Given the description of an element on the screen output the (x, y) to click on. 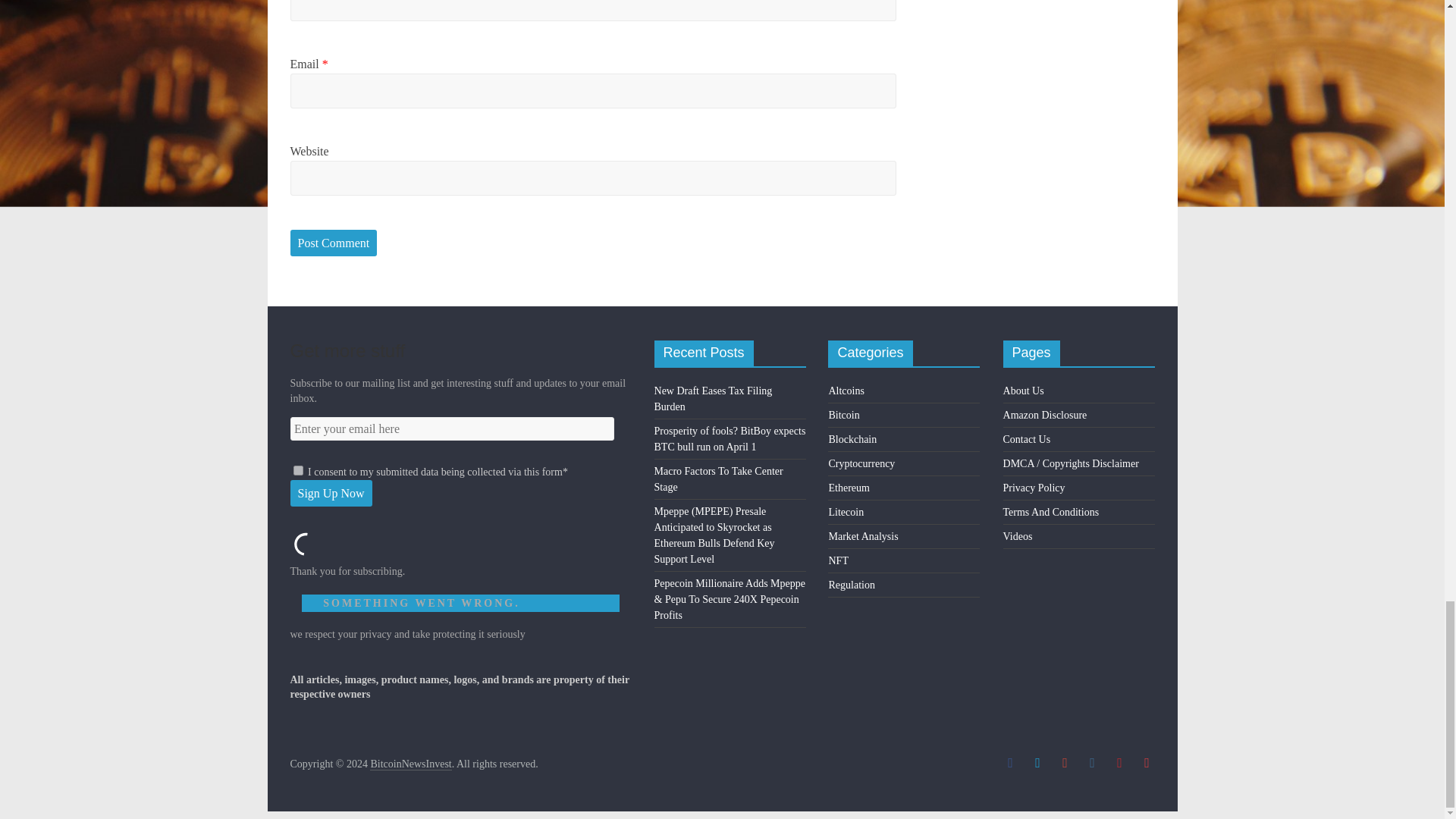
Sign Up Now (330, 492)
Post Comment (333, 243)
on (297, 470)
